Given the description of an element on the screen output the (x, y) to click on. 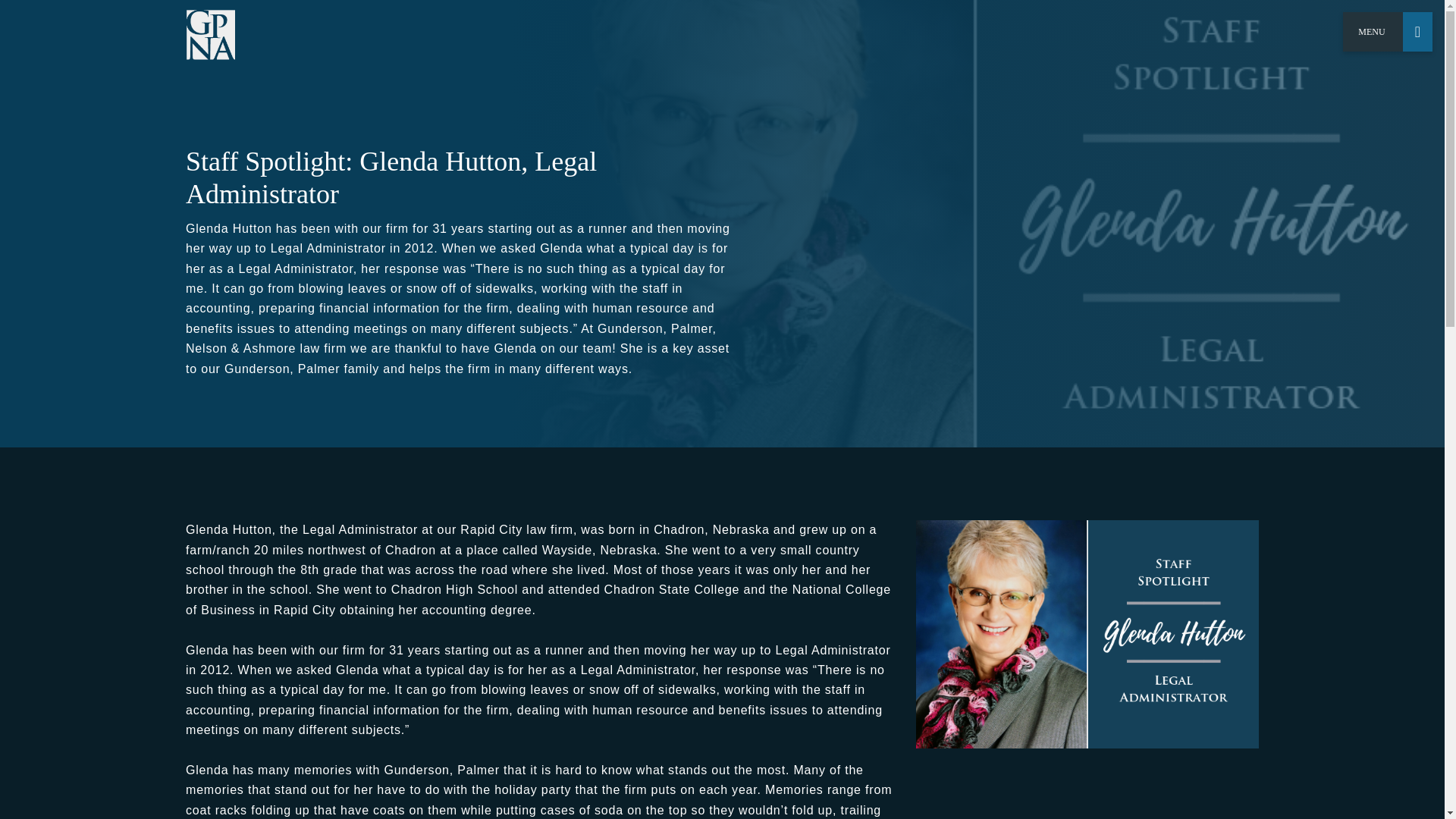
Gunderson Palmer Nelson Ashmore LLP Attorneys at Law Logo (210, 34)
MENU (1387, 31)
